Given the description of an element on the screen output the (x, y) to click on. 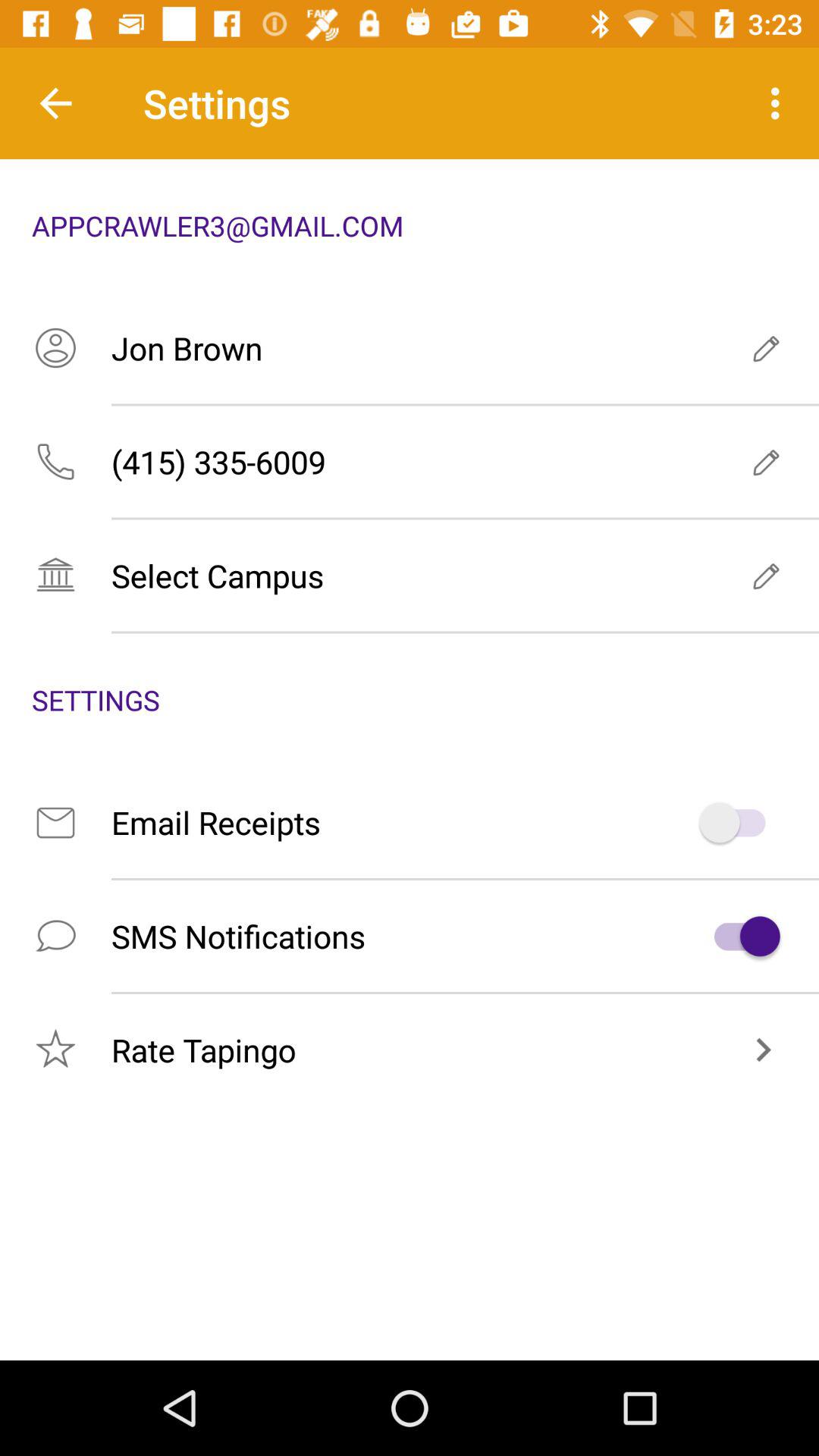
open the icon above settings (409, 575)
